Given the description of an element on the screen output the (x, y) to click on. 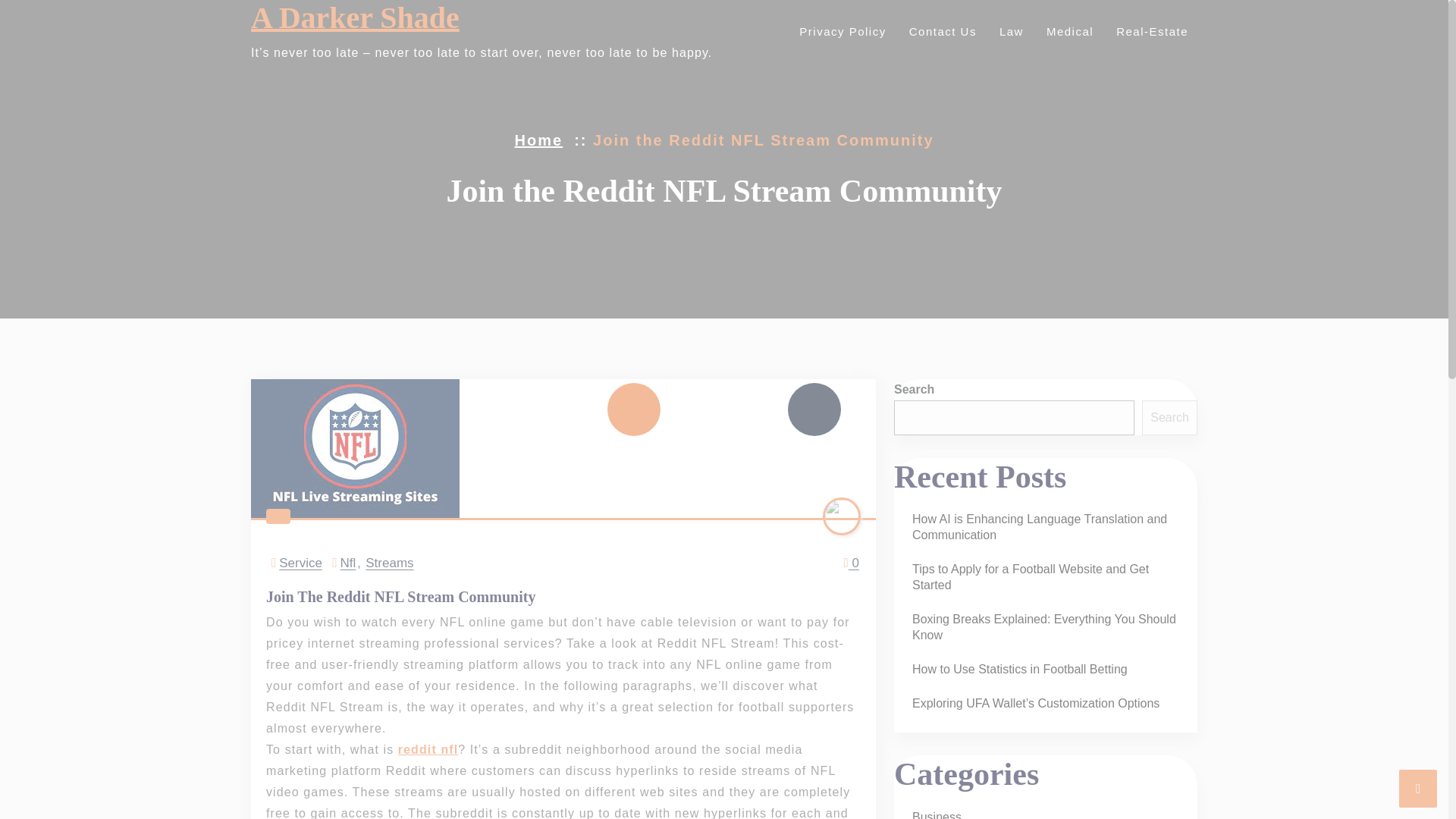
Service (300, 563)
A Darker Shade (355, 17)
Tips to Apply for a Football Website and Get Started (1045, 577)
Medical (1067, 31)
Contact Us (940, 31)
Privacy Policy (839, 31)
Contact Us (940, 31)
Streams (389, 563)
Law (1008, 31)
Law (1008, 31)
